Given the description of an element on the screen output the (x, y) to click on. 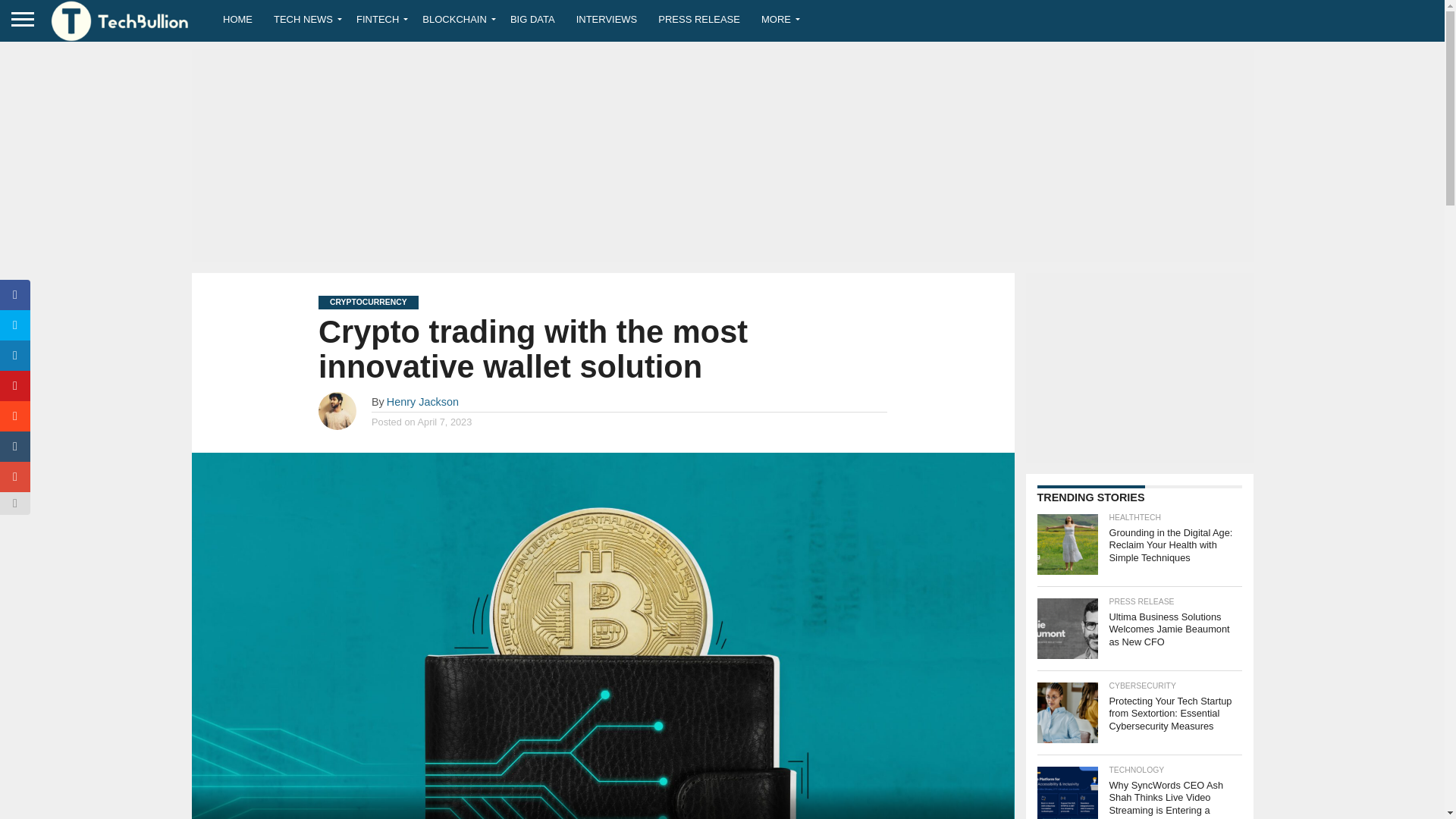
Posts by Henry Jackson (422, 401)
